Given the description of an element on the screen output the (x, y) to click on. 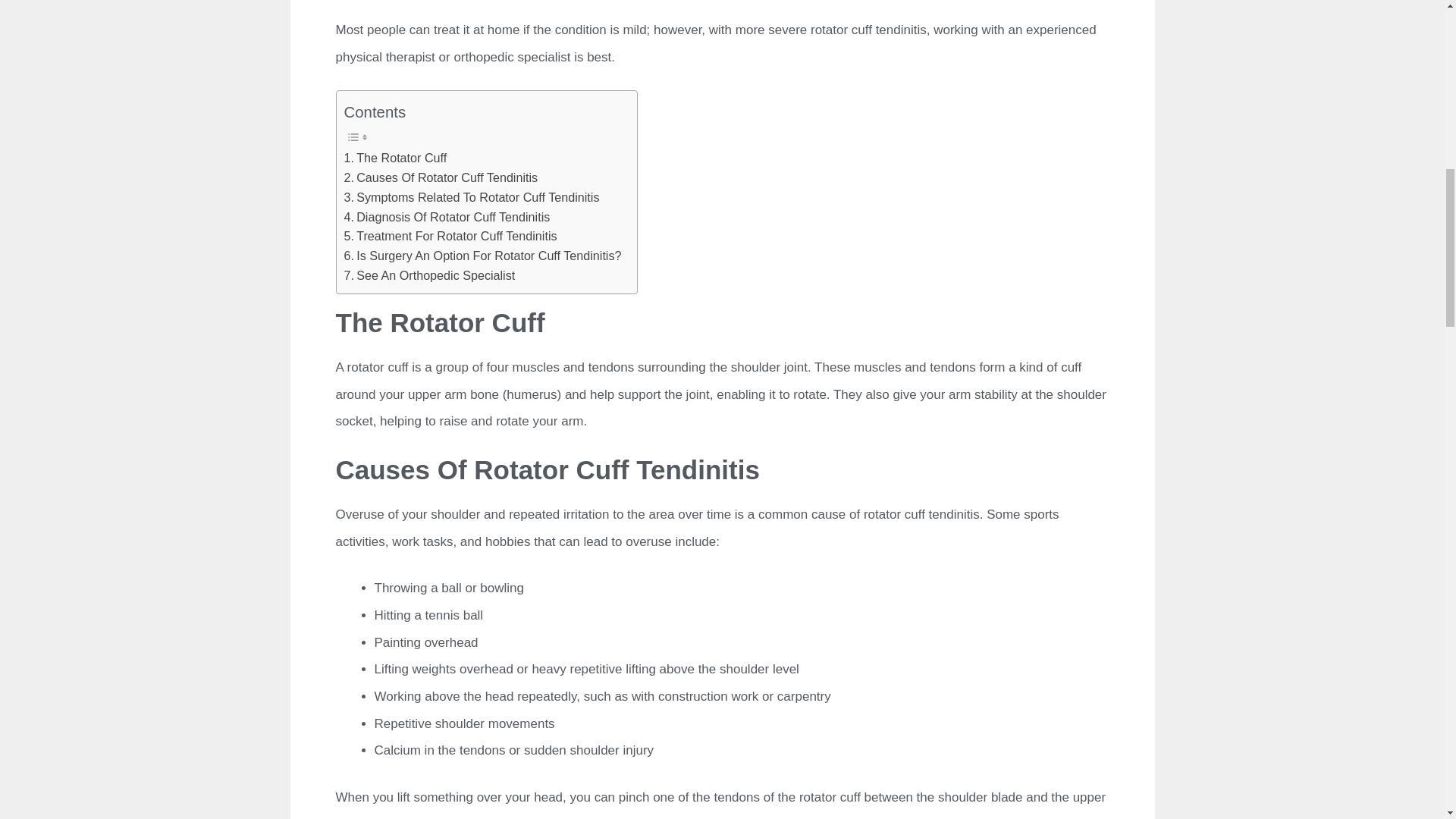
Treatment For Rotator Cuff Tendinitis (450, 236)
See An Orthopedic Specialist (429, 275)
Is Surgery An Option For Rotator Cuff Tendinitis? (482, 256)
The Rotator Cuff (394, 158)
Causes Of Rotator Cuff Tendinitis (440, 178)
Symptoms Related To Rotator Cuff Tendinitis (471, 198)
Diagnosis Of Rotator Cuff Tendinitis (446, 217)
